Given the description of an element on the screen output the (x, y) to click on. 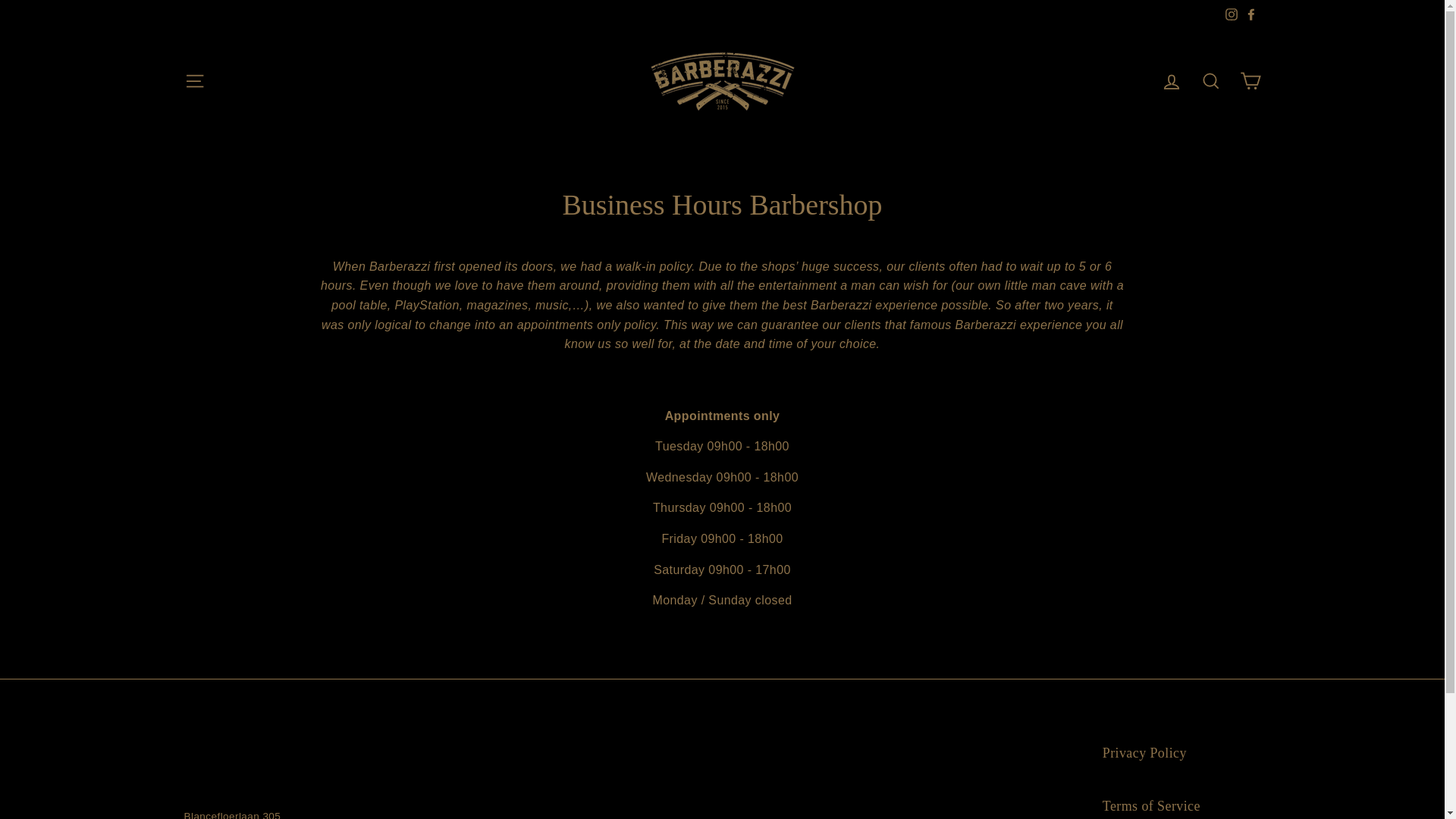
Instagram Element type: text (1230, 14)
Skip to content Element type: text (0, 0)
SITE NAVIGATION Element type: text (193, 81)
Privacy Policy Element type: text (1144, 753)
Facebook Element type: text (1250, 14)
LOG IN Element type: text (1170, 81)
CART Element type: text (1249, 81)
SEARCH Element type: text (1210, 81)
